Given the description of an element on the screen output the (x, y) to click on. 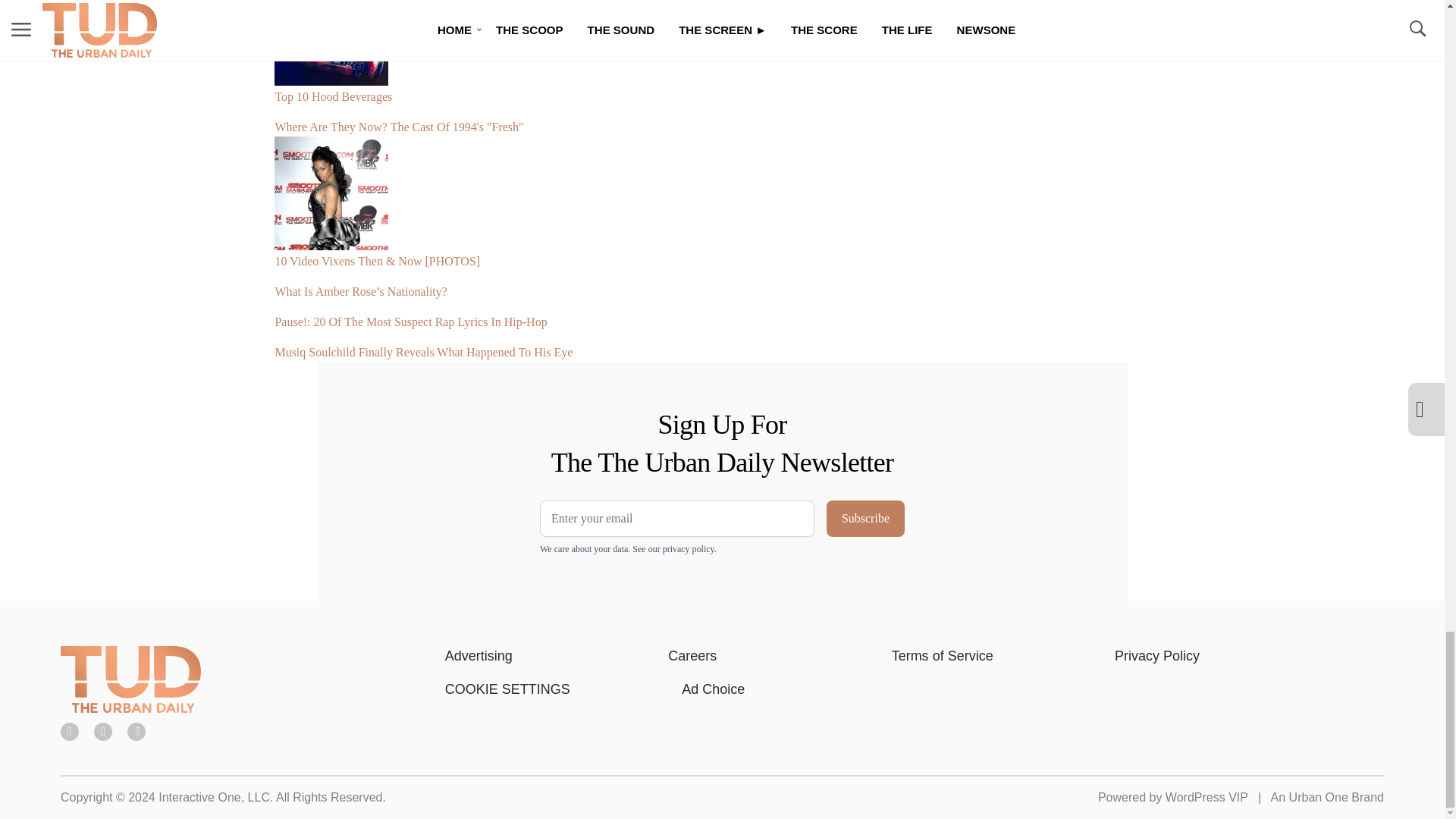
Where Are They Now? The Cast Of 1994's "Fresh" (585, 121)
DIRTY DOZEN: Uncle Ruckus' Most Racist Moments (585, 6)
Top 10 Hood Beverages (585, 59)
